Given the description of an element on the screen output the (x, y) to click on. 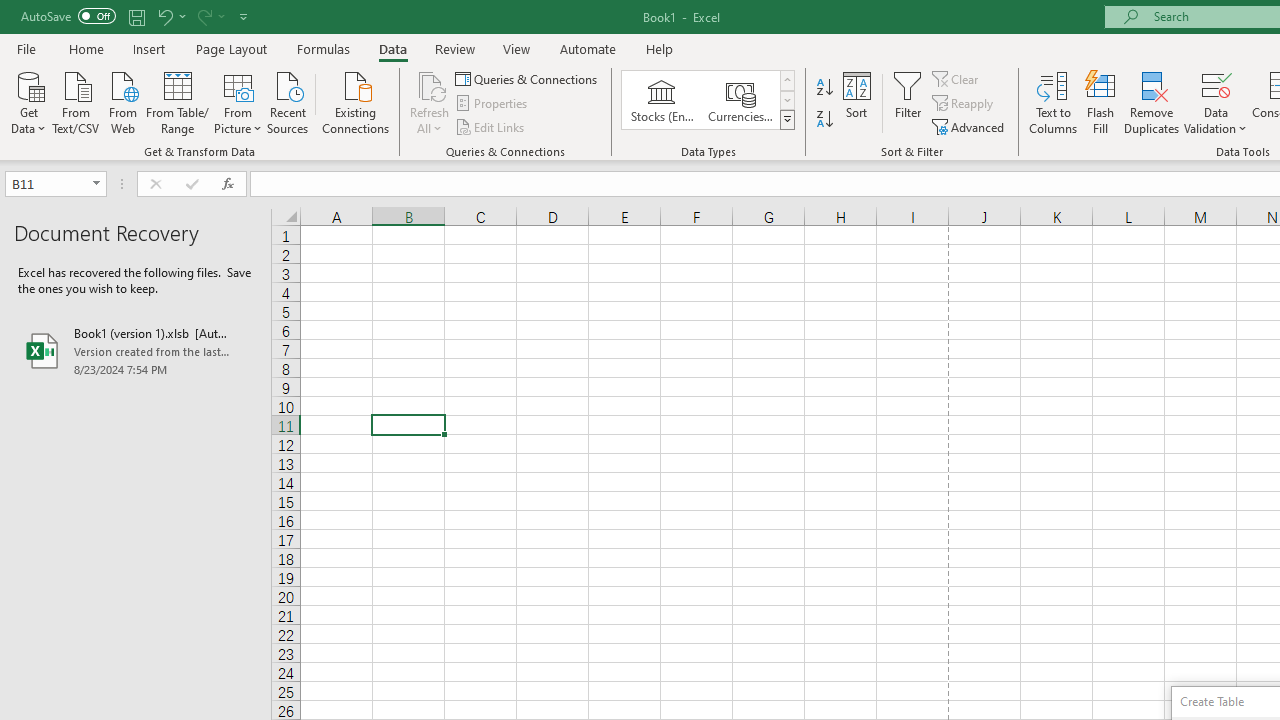
Filter (908, 102)
Redo (203, 15)
Quick Access Toolbar (136, 16)
Home (86, 48)
From Table/Range (177, 101)
Properties (492, 103)
AutomationID: ConvertToLinkedEntity (708, 99)
System (10, 11)
File Tab (26, 48)
Formulas (323, 48)
From Text/CSV (75, 101)
AutoSave (68, 16)
Recent Sources (287, 101)
Name Box (56, 183)
Sort Z to A (824, 119)
